Given the description of an element on the screen output the (x, y) to click on. 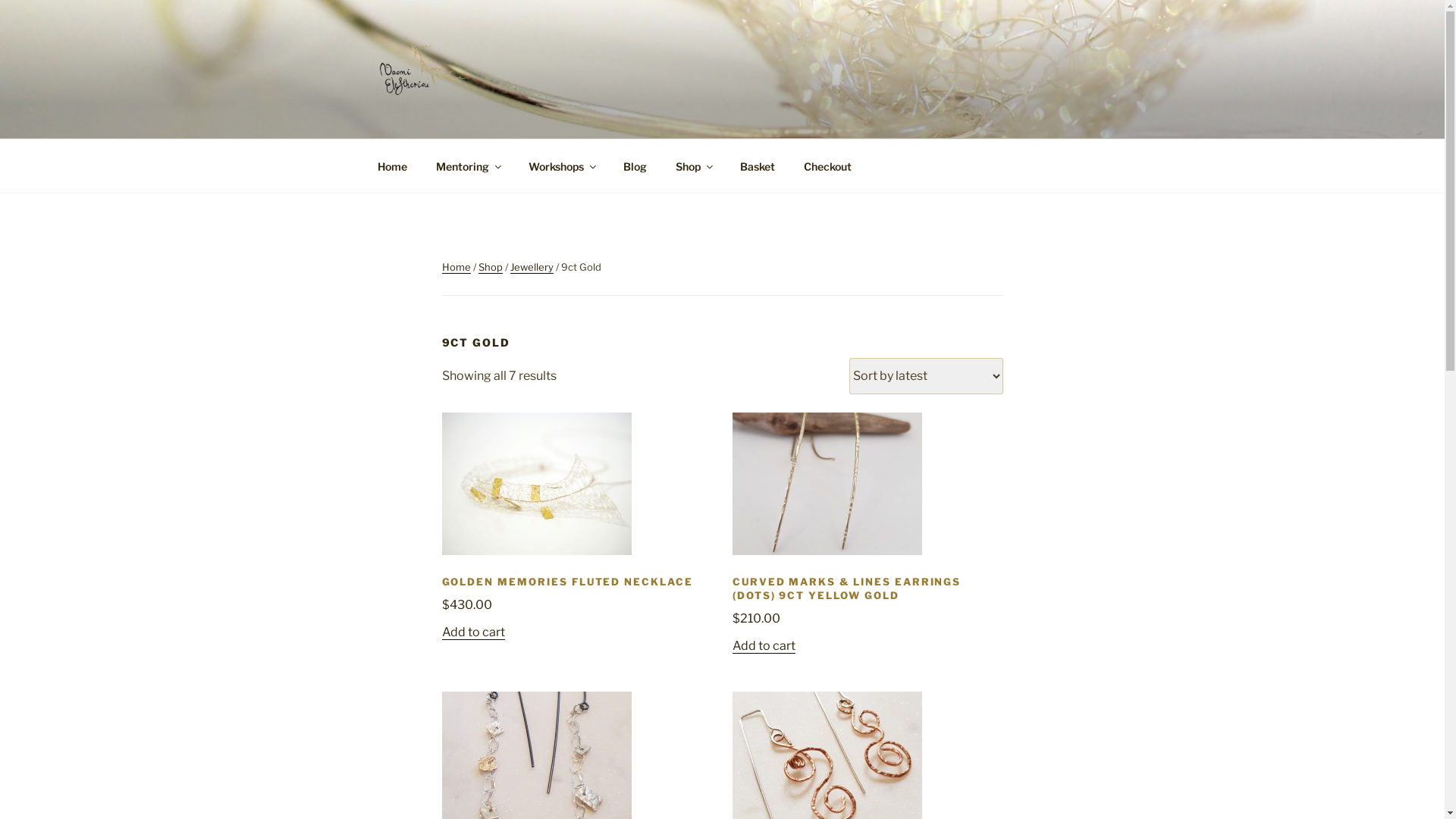
Checkout Element type: text (827, 165)
CURVED MARKS & LINES EARRINGS (DOTS) 9CT YELLOW GOLD
$210.00 Element type: text (866, 598)
Home Element type: text (392, 165)
NAOMI ELEFTHERIOU Element type: text (548, 118)
Basket Element type: text (756, 165)
Home Element type: text (455, 266)
GOLDEN MEMORIES FLUTED NECKLACE
$430.00 Element type: text (575, 591)
Mentoring Element type: text (468, 165)
Blog Element type: text (634, 165)
Jewellery Element type: text (530, 266)
Workshops Element type: text (561, 165)
Add to cart Element type: text (763, 645)
Shop Element type: text (693, 165)
Add to cart Element type: text (472, 631)
Shop Element type: text (489, 266)
